Given the description of an element on the screen output the (x, y) to click on. 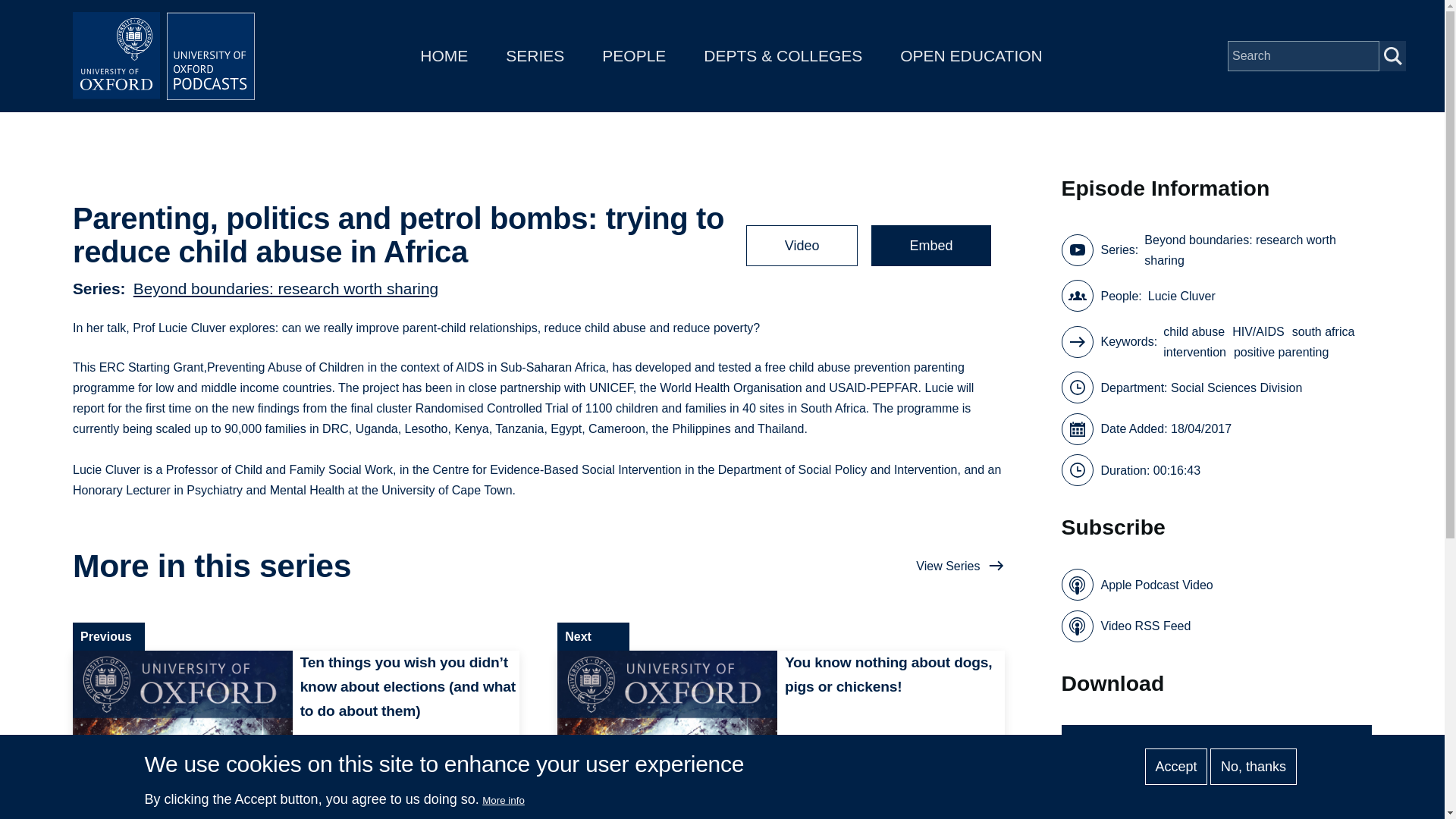
Apple Podcast Video (1136, 584)
Social Sciences Division (1235, 387)
Embed (930, 245)
child abuse (1193, 331)
Video RSS Feed (1126, 626)
Beyond boundaries: research worth sharing (1254, 250)
Video (802, 245)
Beyond boundaries: research worth sharing (285, 287)
south africa (1323, 331)
positive parenting (1280, 352)
